Given the description of an element on the screen output the (x, y) to click on. 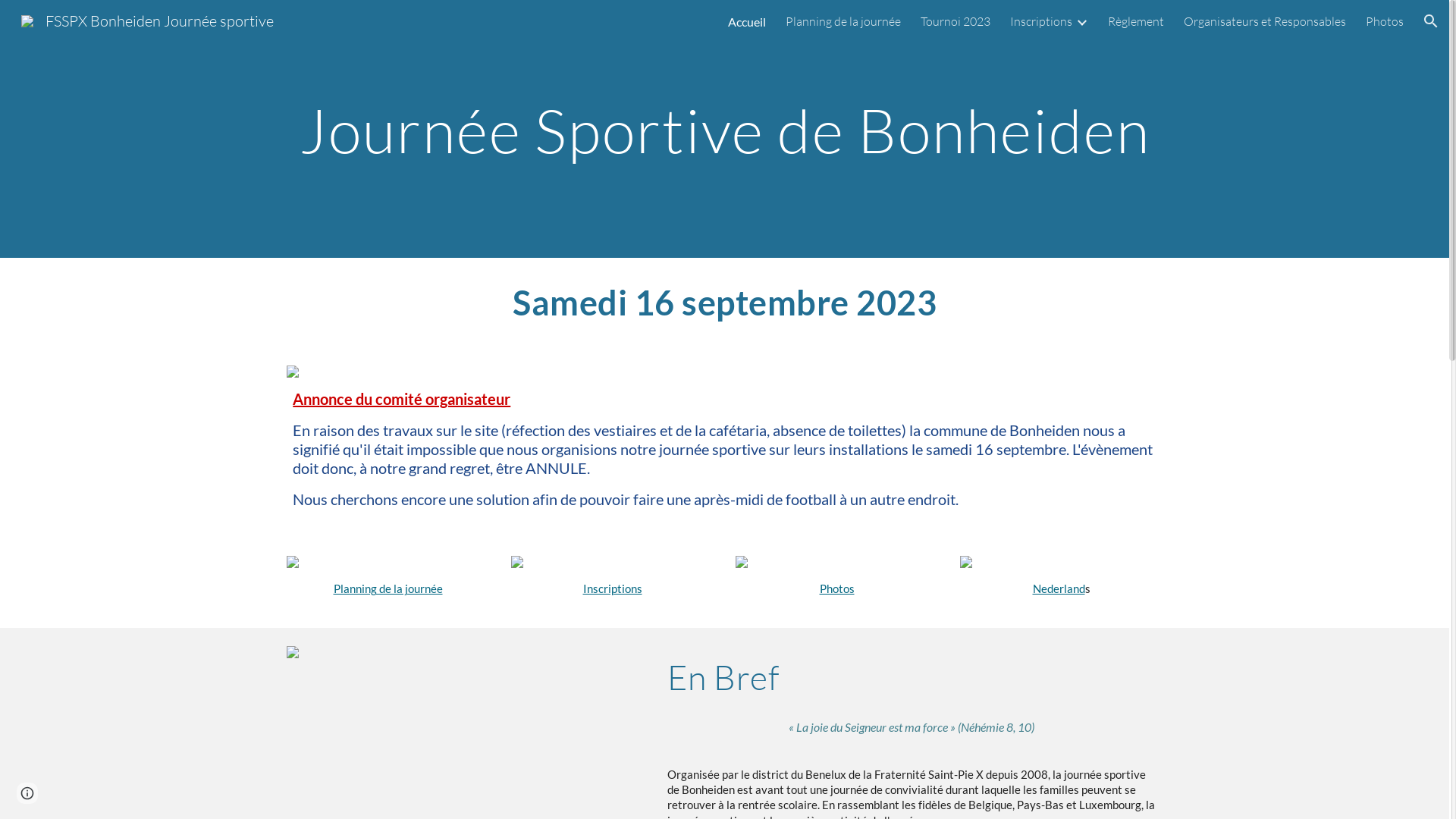
Inscriptions Element type: text (1041, 20)
Inscriptions Element type: text (611, 588)
Photos Element type: text (1384, 20)
Nederland Element type: text (1058, 588)
Accueil Element type: text (746, 20)
Photos Element type: text (836, 588)
Tournoi 2023 Element type: text (955, 20)
Expand/Collapse Element type: hover (1081, 20)
Organisateurs et Responsables Element type: text (1264, 20)
